Given the description of an element on the screen output the (x, y) to click on. 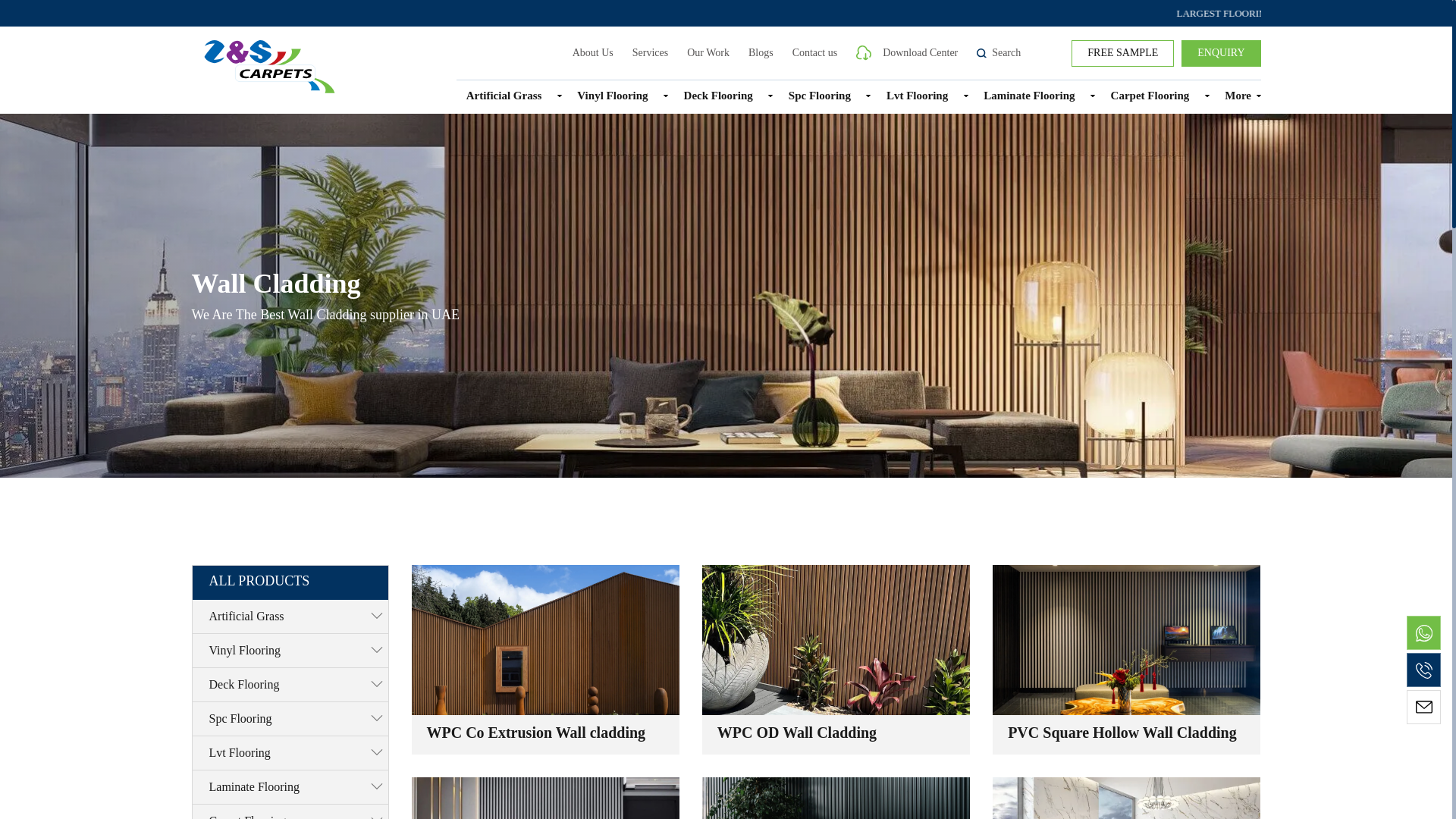
Blogs (760, 52)
About Us (592, 52)
Vinyl Flooring (612, 95)
Our Work (708, 52)
Services (649, 52)
FREE SAMPLE (1122, 52)
Artificial Grass (504, 95)
Deck Flooring (717, 95)
ENQUIRY (1220, 52)
Download Center (907, 52)
Contact us (815, 52)
